Given the description of an element on the screen output the (x, y) to click on. 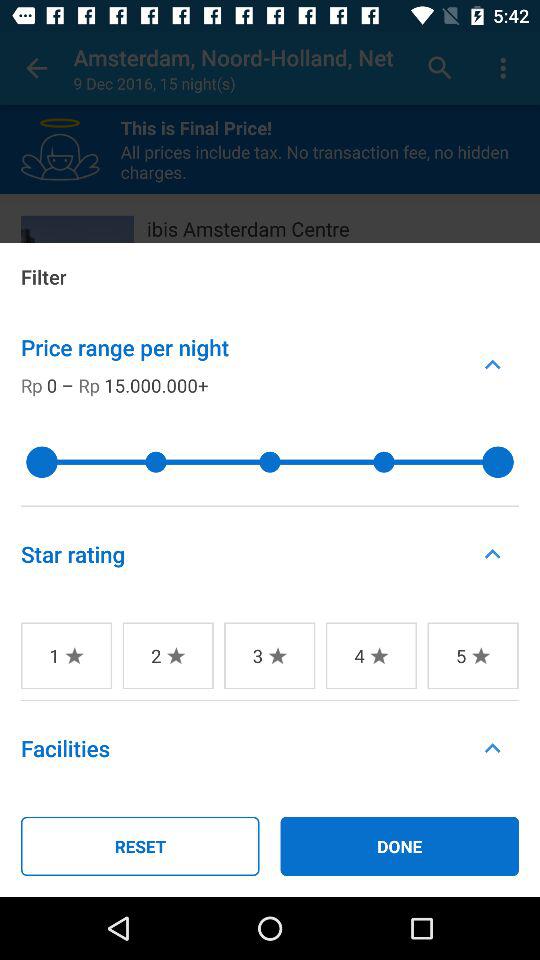
select the item to the right of reset (399, 846)
